Given the description of an element on the screen output the (x, y) to click on. 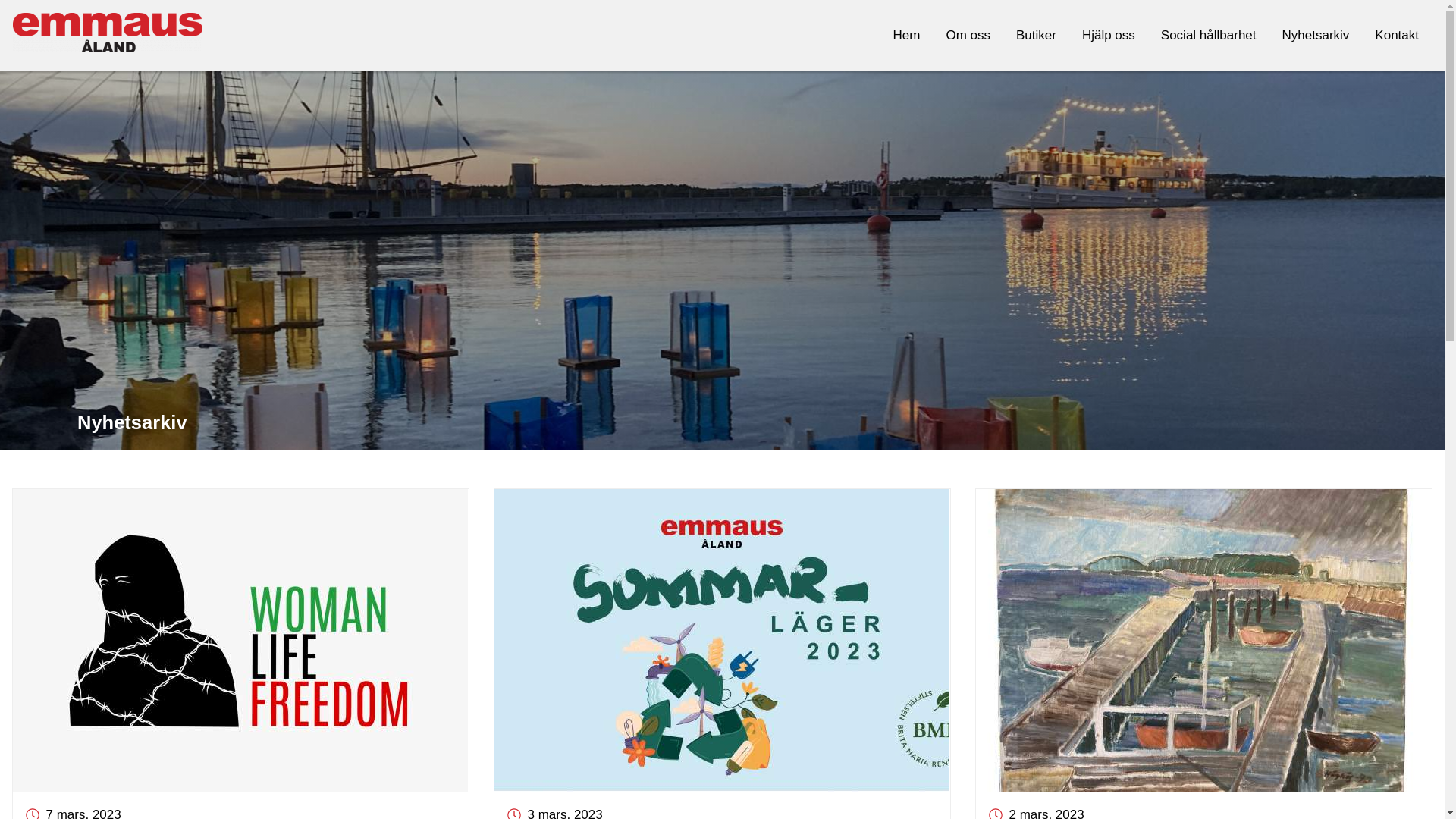
Kontakt Element type: text (1396, 35)
Om oss Element type: text (967, 35)
Hem Element type: text (906, 35)
Nyhetsarkiv Element type: text (1315, 35)
Butiker Element type: text (1036, 35)
